Given the description of an element on the screen output the (x, y) to click on. 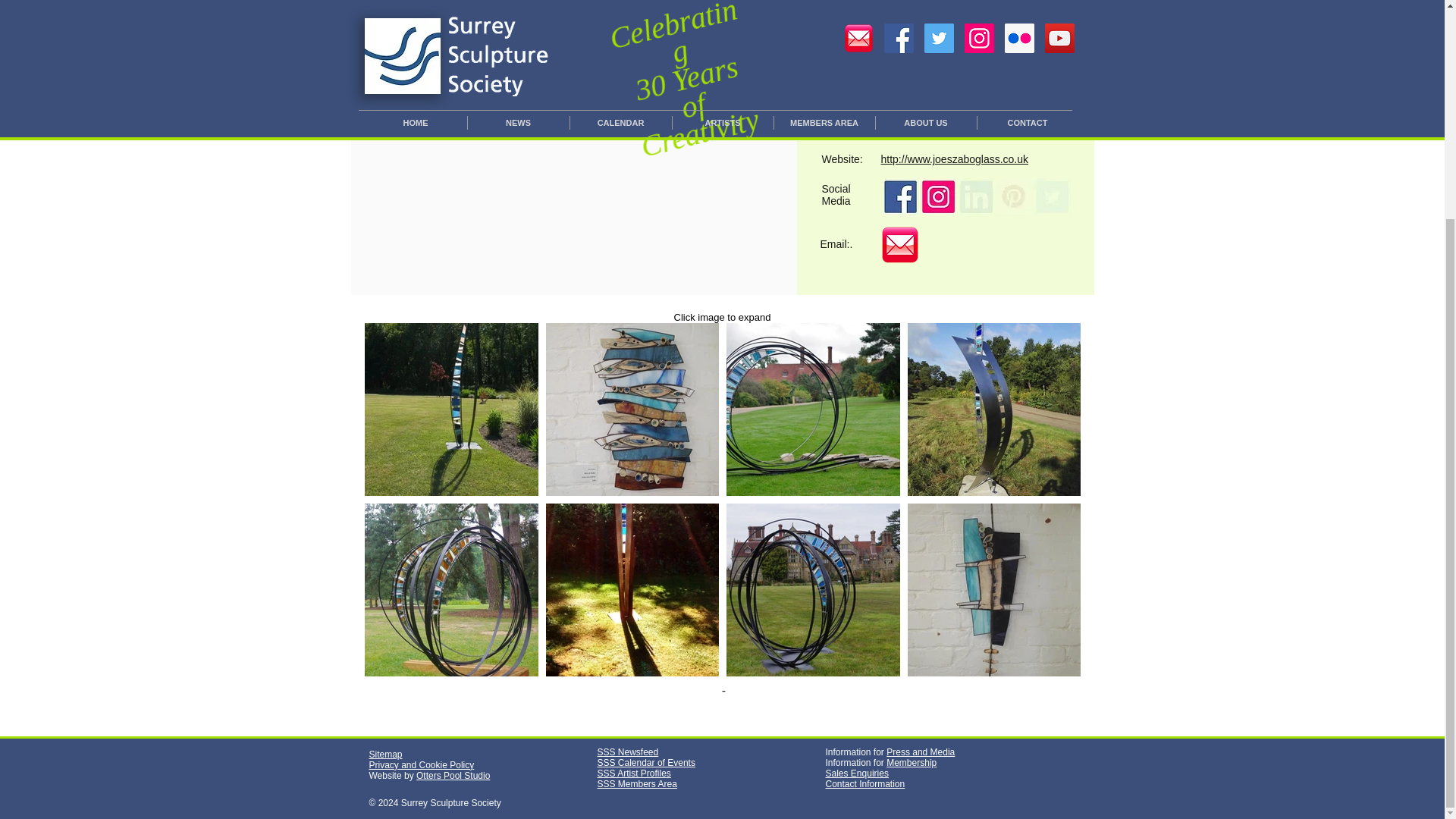
SSS Artist Profiles (633, 773)
Joe Szabo (937, 197)
Contact Information (864, 783)
SSS Newsfeed (627, 751)
Otters Pool Studio (452, 775)
Joe Szabo (899, 244)
SSS Members Area (636, 783)
Joe Szabo (947, 33)
Membership (911, 762)
SSS Calendar of Events (645, 762)
Joe Szabo (899, 197)
Sales Enquiries (856, 773)
Privacy and Cookie Policy (421, 765)
Sitemap (384, 754)
Press and Media (920, 751)
